Given the description of an element on the screen output the (x, y) to click on. 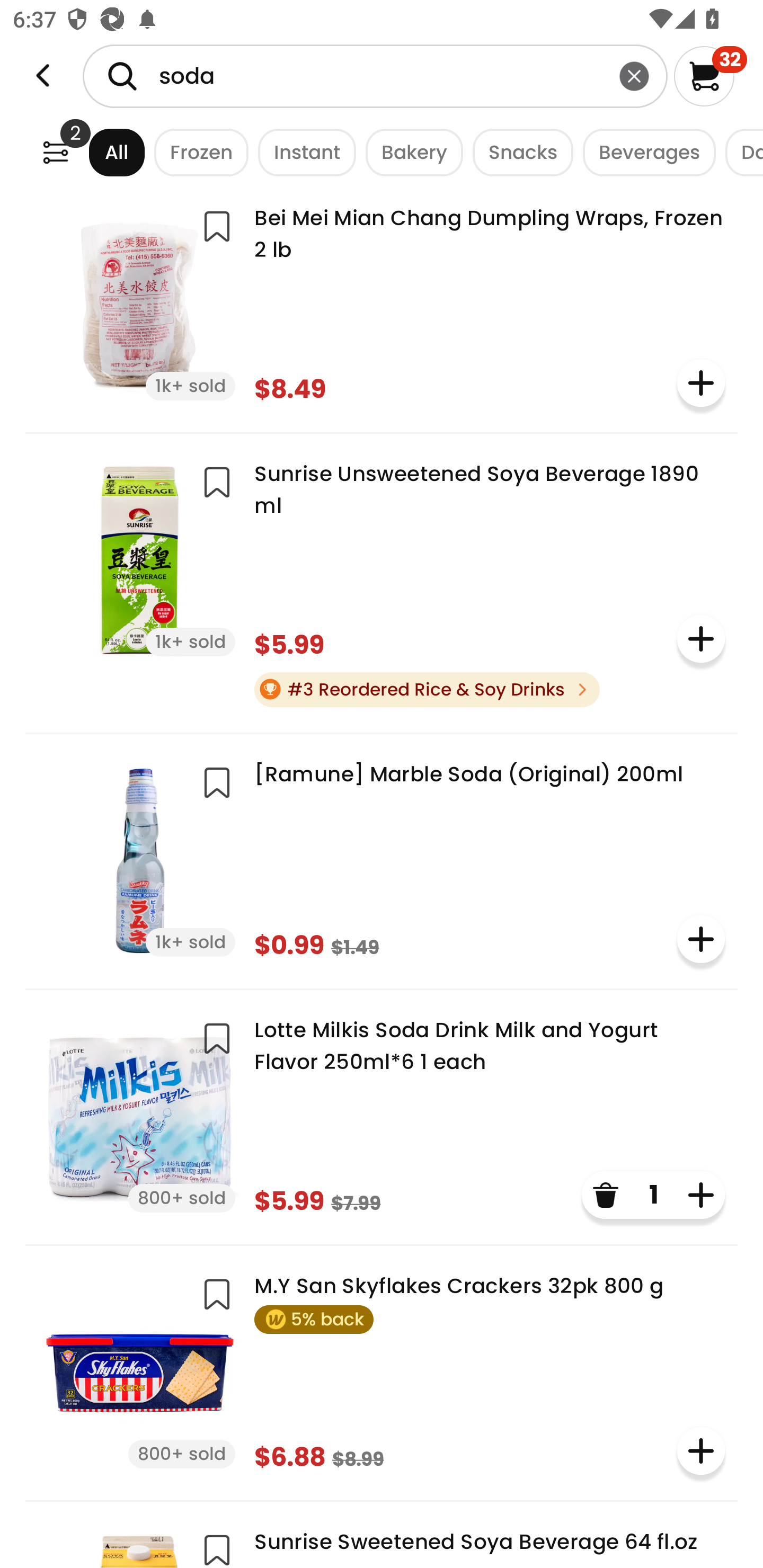
soda (374, 75)
32 (709, 75)
Weee! (42, 76)
Weee! (55, 151)
All (99, 151)
Frozen (196, 151)
Instant (302, 151)
Bakery (409, 151)
Snacks (518, 151)
Beverages (644, 151)
